Given the description of an element on the screen output the (x, y) to click on. 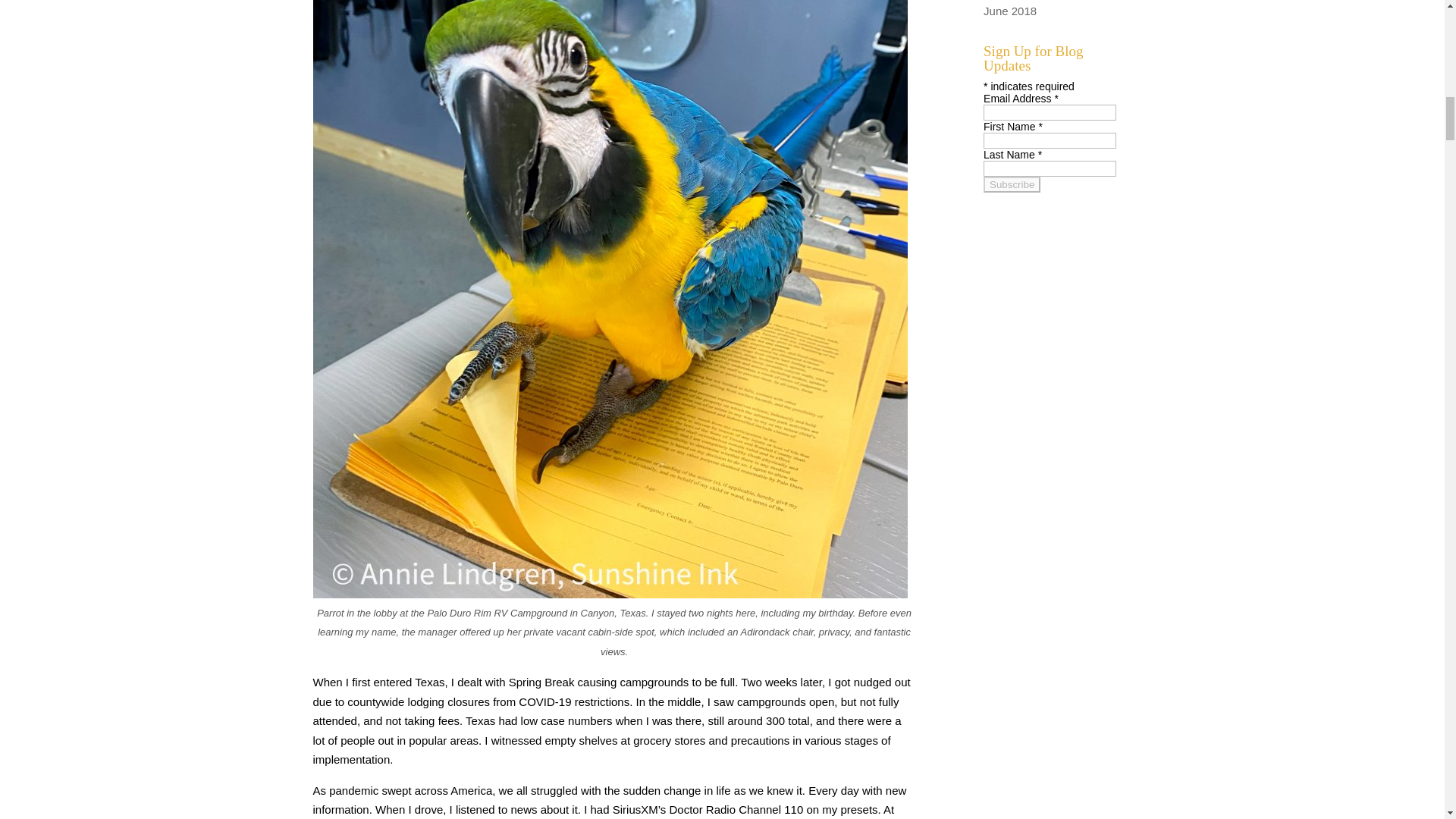
Subscribe (1012, 183)
